Given the description of an element on the screen output the (x, y) to click on. 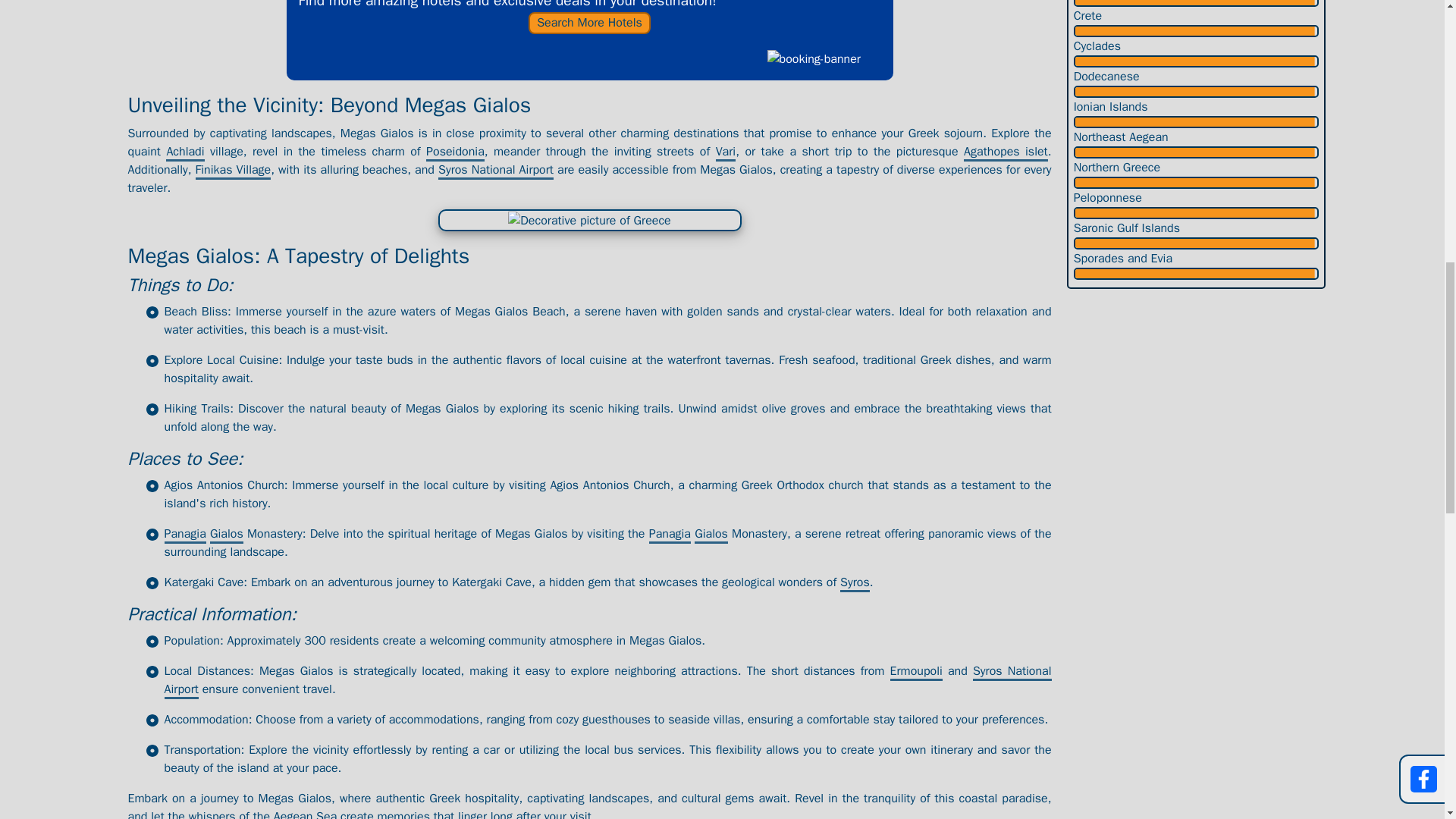
Panagia (184, 534)
Syros National Airport (607, 681)
Syros National Airport (495, 170)
Gialos (711, 534)
Ermoupoli (915, 671)
Finikas Village (232, 170)
Agathopes islet (1005, 152)
Poseidonia (455, 152)
Vari (726, 152)
Achladi (184, 152)
Syros (854, 583)
Panagia (669, 534)
Gialos (226, 534)
